Given the description of an element on the screen output the (x, y) to click on. 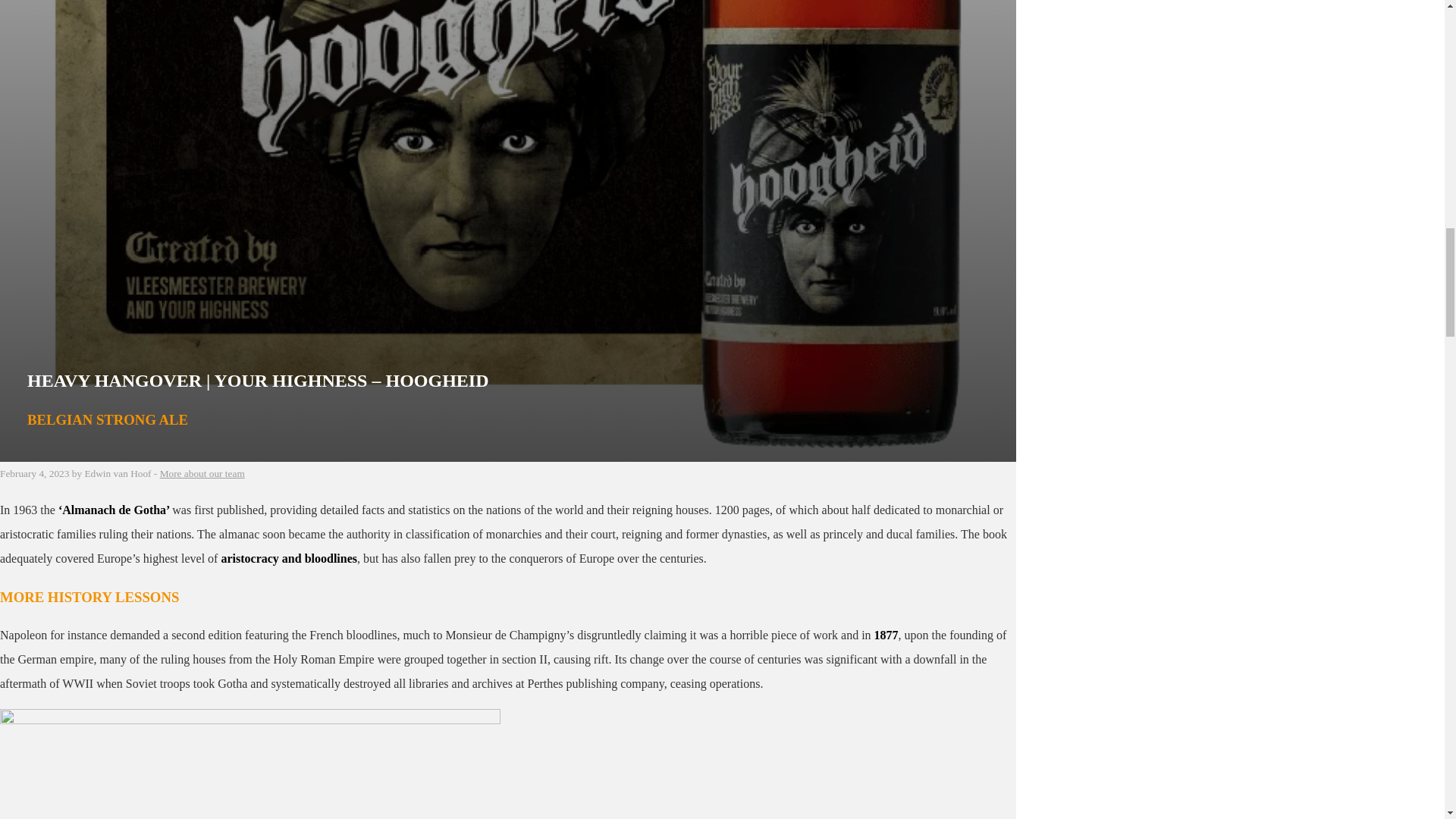
More about our team (202, 473)
